Given the description of an element on the screen output the (x, y) to click on. 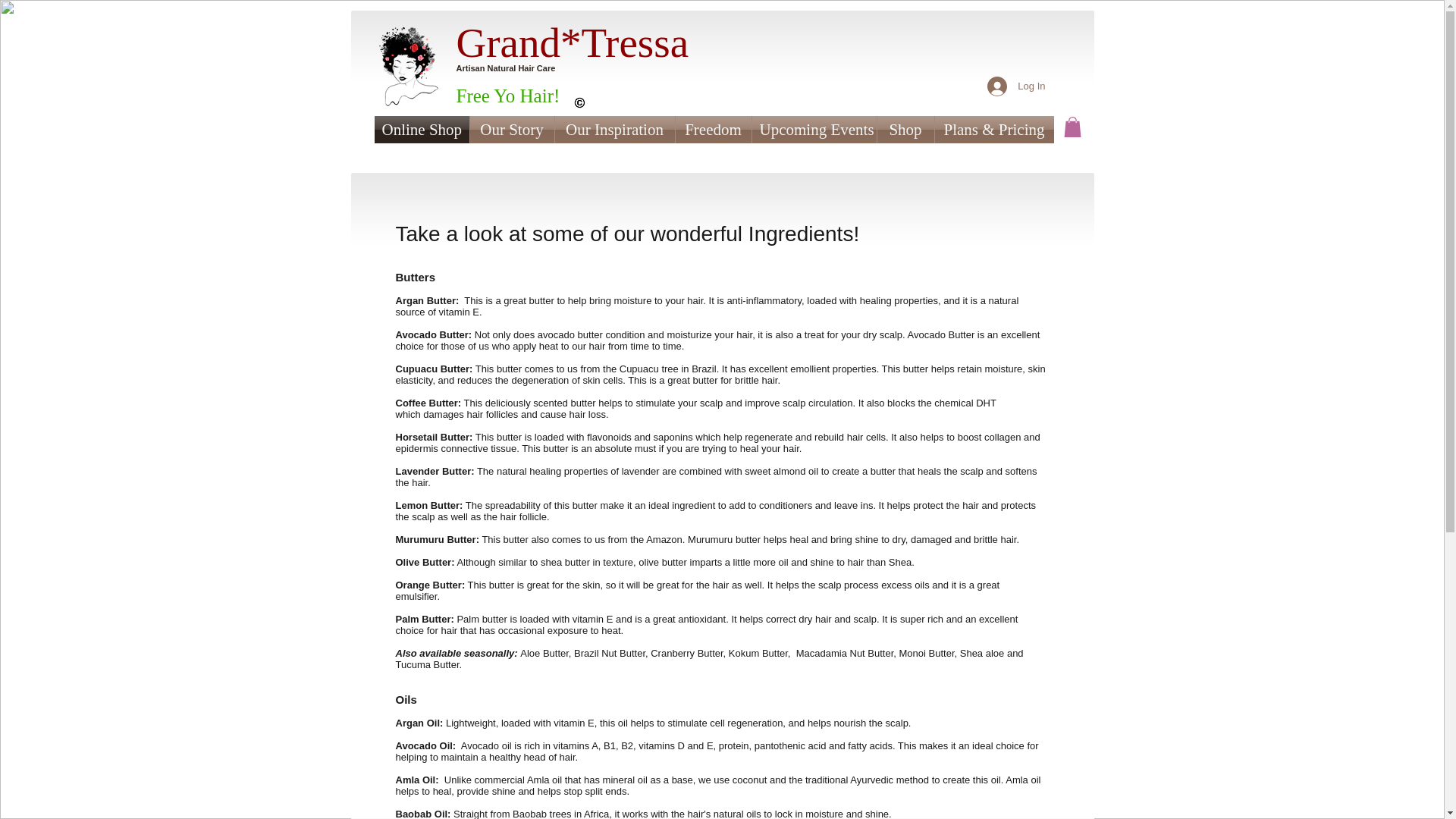
Shop (904, 129)
Artisan Natural Hair Care  (507, 67)
Online Shop (421, 129)
Upcoming Events (814, 129)
Log In (1015, 85)
Our Inspiration (614, 129)
Our Story (512, 129)
Freedom (713, 129)
